Given the description of an element on the screen output the (x, y) to click on. 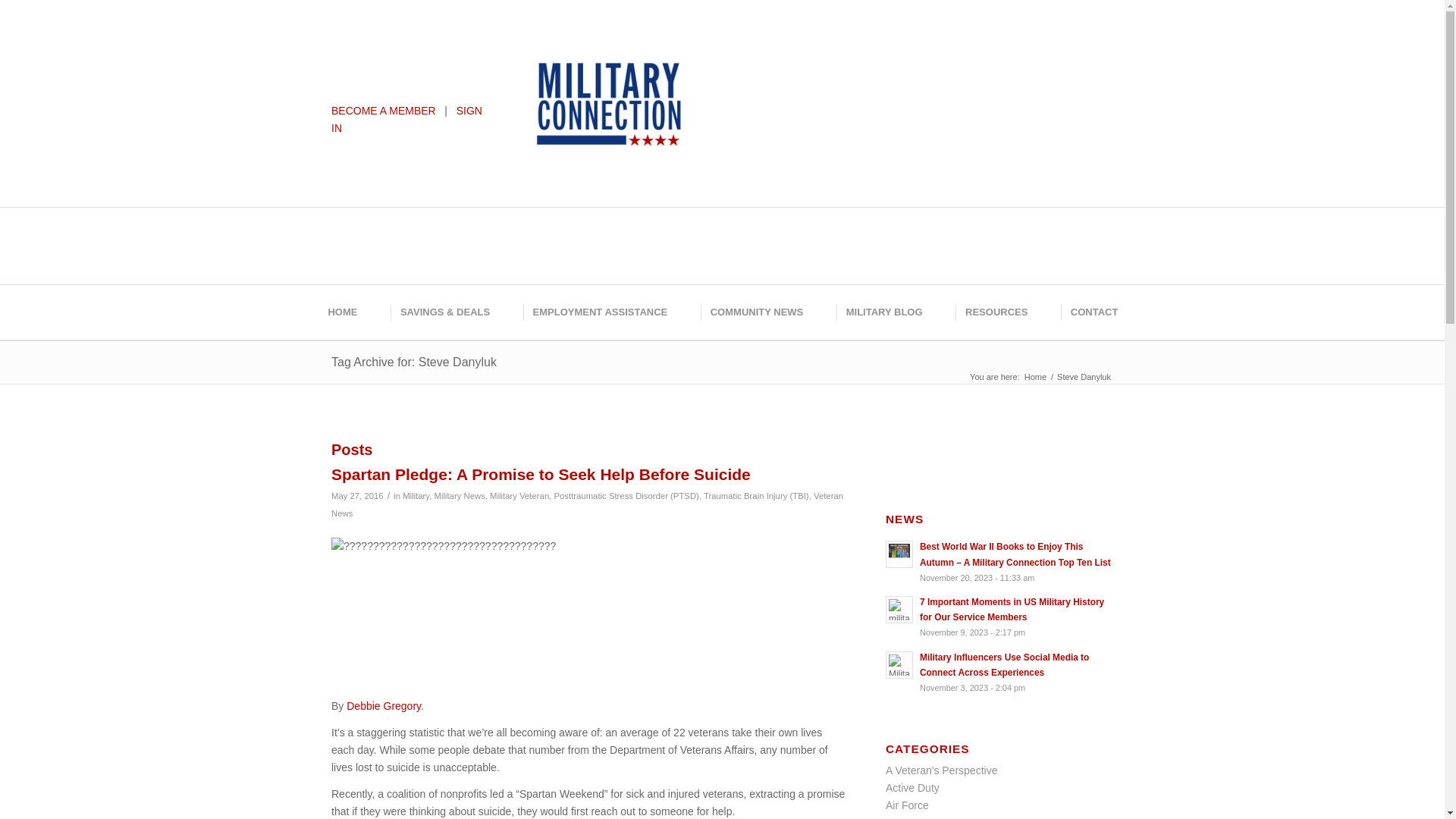
Archived Blogs (920, 818)
Air Force (906, 805)
Active Duty (912, 787)
Twitter (771, 48)
Military (416, 495)
SIGN IN (406, 119)
